Given the description of an element on the screen output the (x, y) to click on. 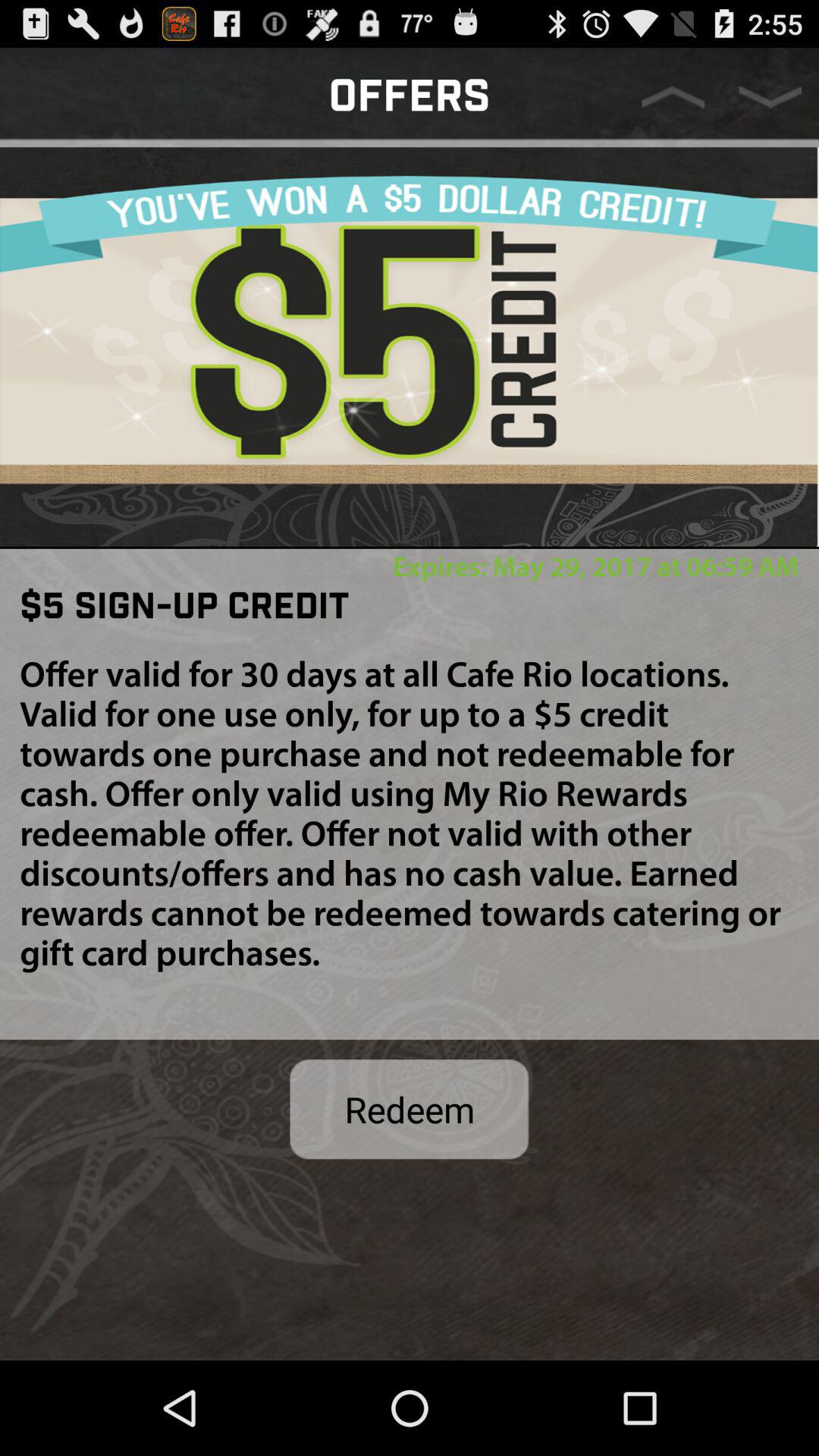
previous option (672, 96)
